Given the description of an element on the screen output the (x, y) to click on. 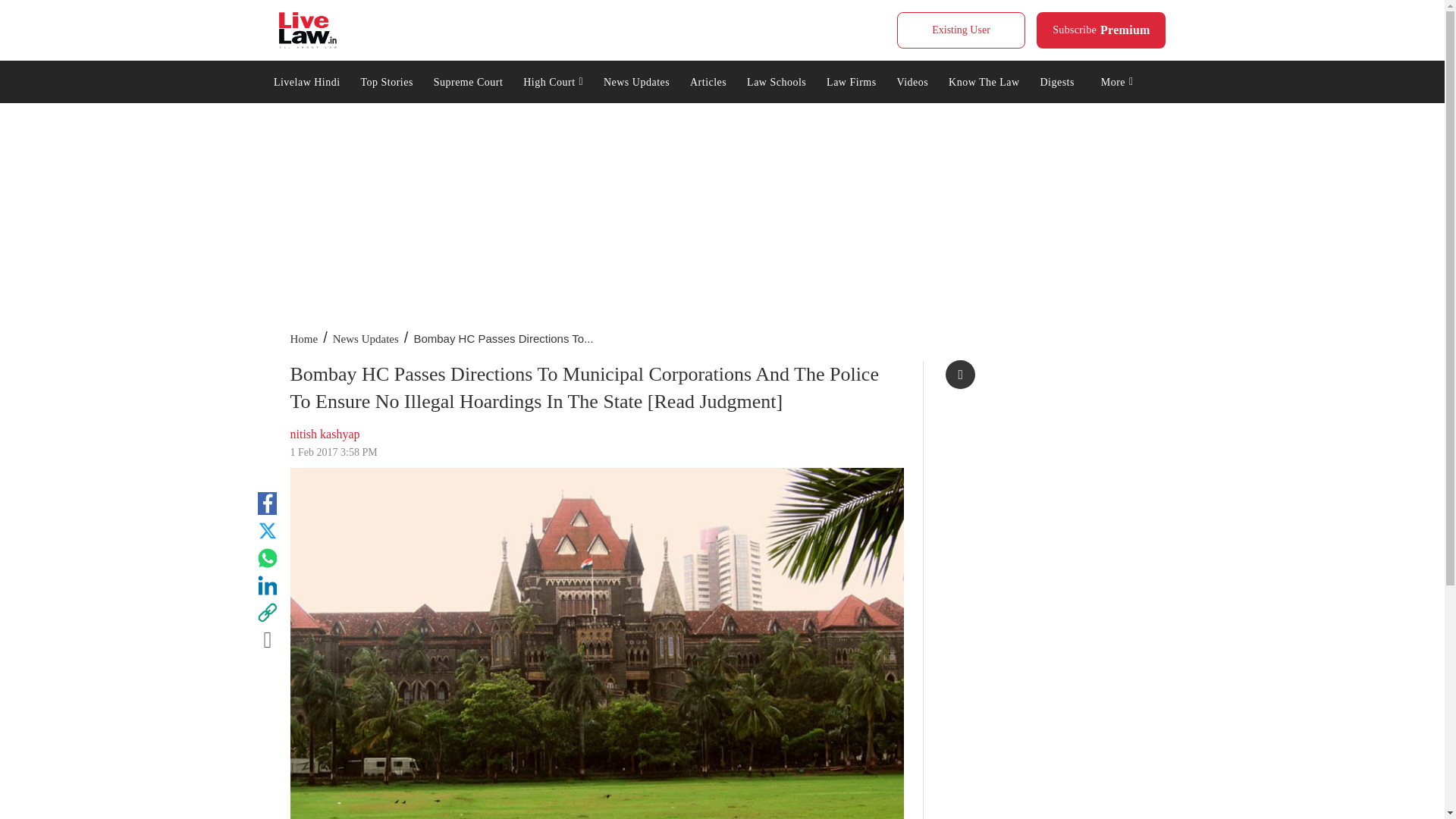
Supreme Court (1101, 30)
Live Law (467, 80)
Existing User (307, 30)
Livelaw Hindi (960, 30)
High Court (306, 80)
Top Stories (553, 80)
